Given the description of an element on the screen output the (x, y) to click on. 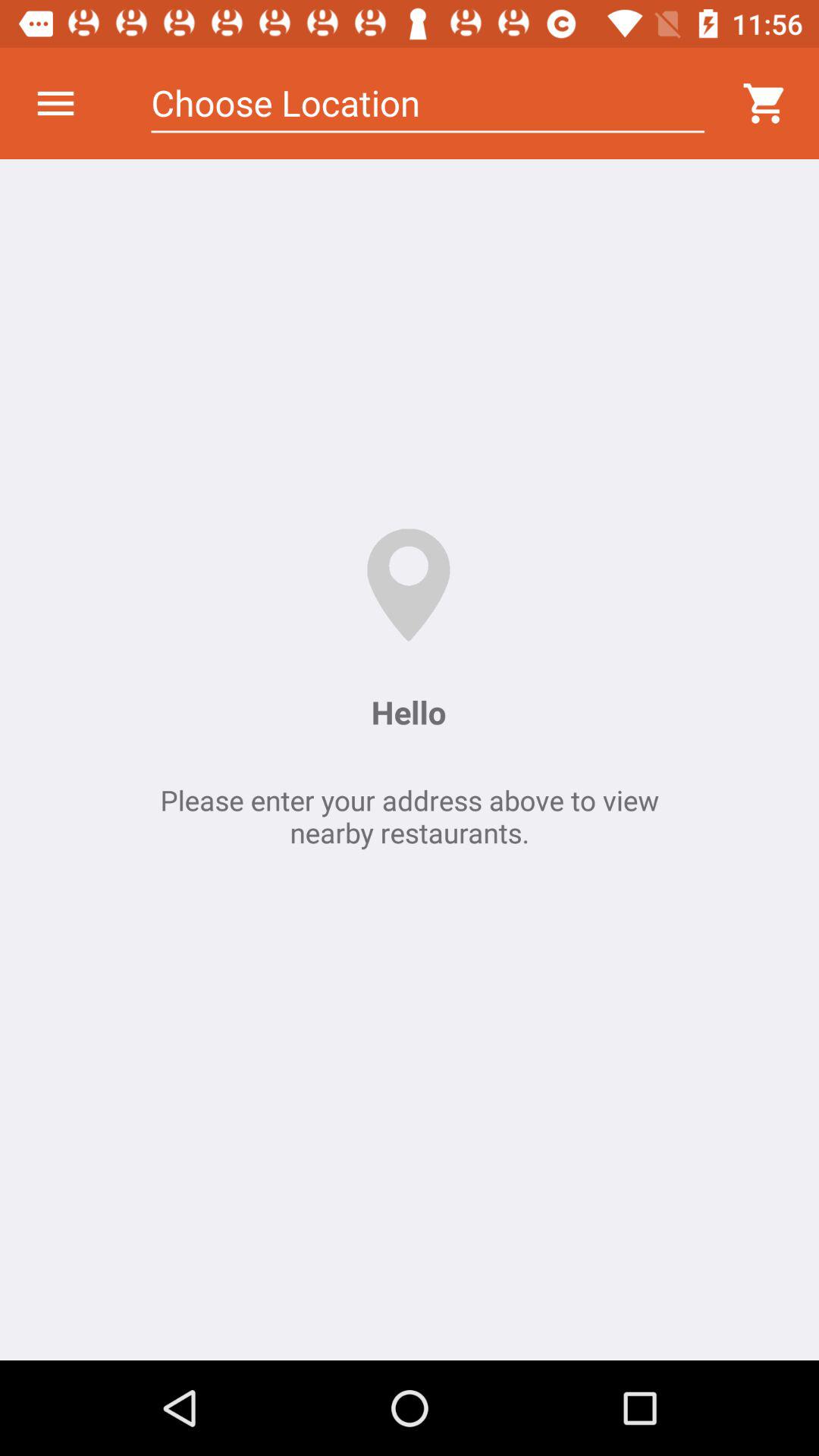
jump until choose location item (427, 103)
